Given the description of an element on the screen output the (x, y) to click on. 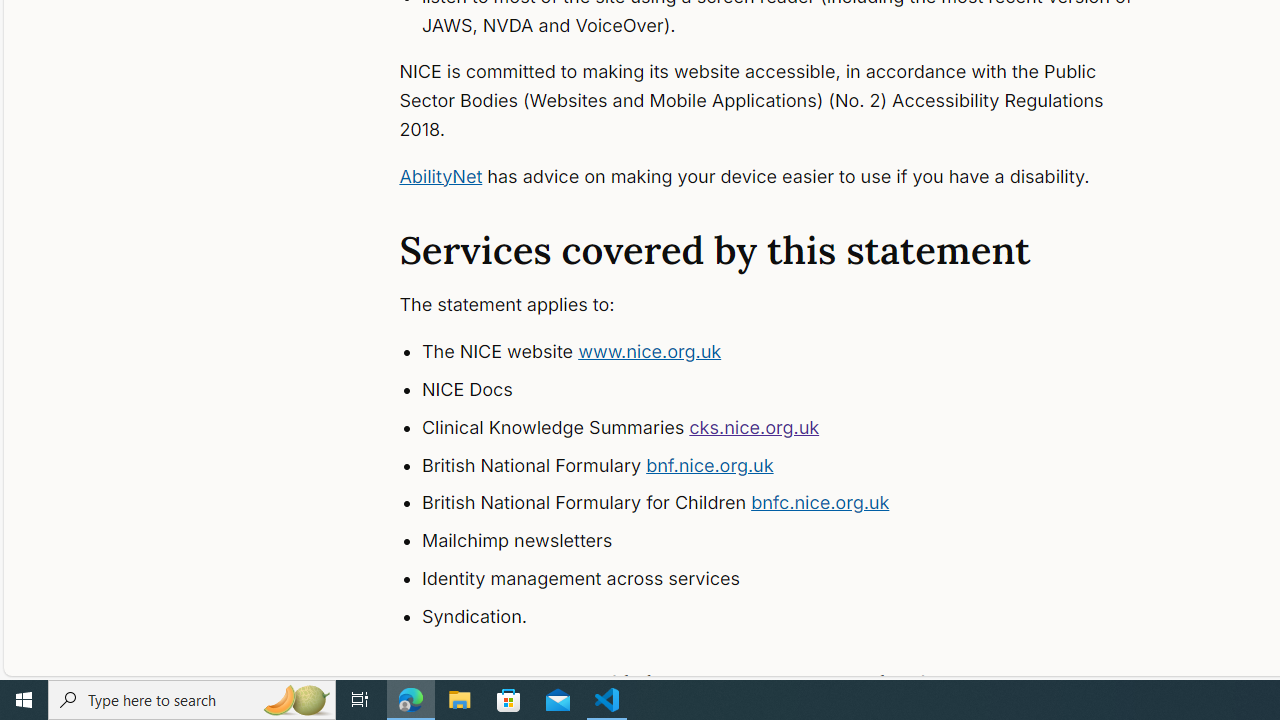
Clinical Knowledge Summaries cks.nice.org.uk (796, 427)
bnf.nice.org.uk (710, 464)
Identity management across services (796, 578)
Mailchimp newsletters (796, 541)
NICE Docs (796, 389)
AbilityNet (440, 175)
www.nice.org.uk (649, 351)
cks.nice.org.uk (754, 426)
bnfc.nice.org.uk (820, 502)
Syndication. (796, 616)
The NICE website www.nice.org.uk (796, 352)
British National Formulary for Children bnfc.nice.org.uk (796, 503)
British National Formulary bnf.nice.org.uk (796, 465)
